Given the description of an element on the screen output the (x, y) to click on. 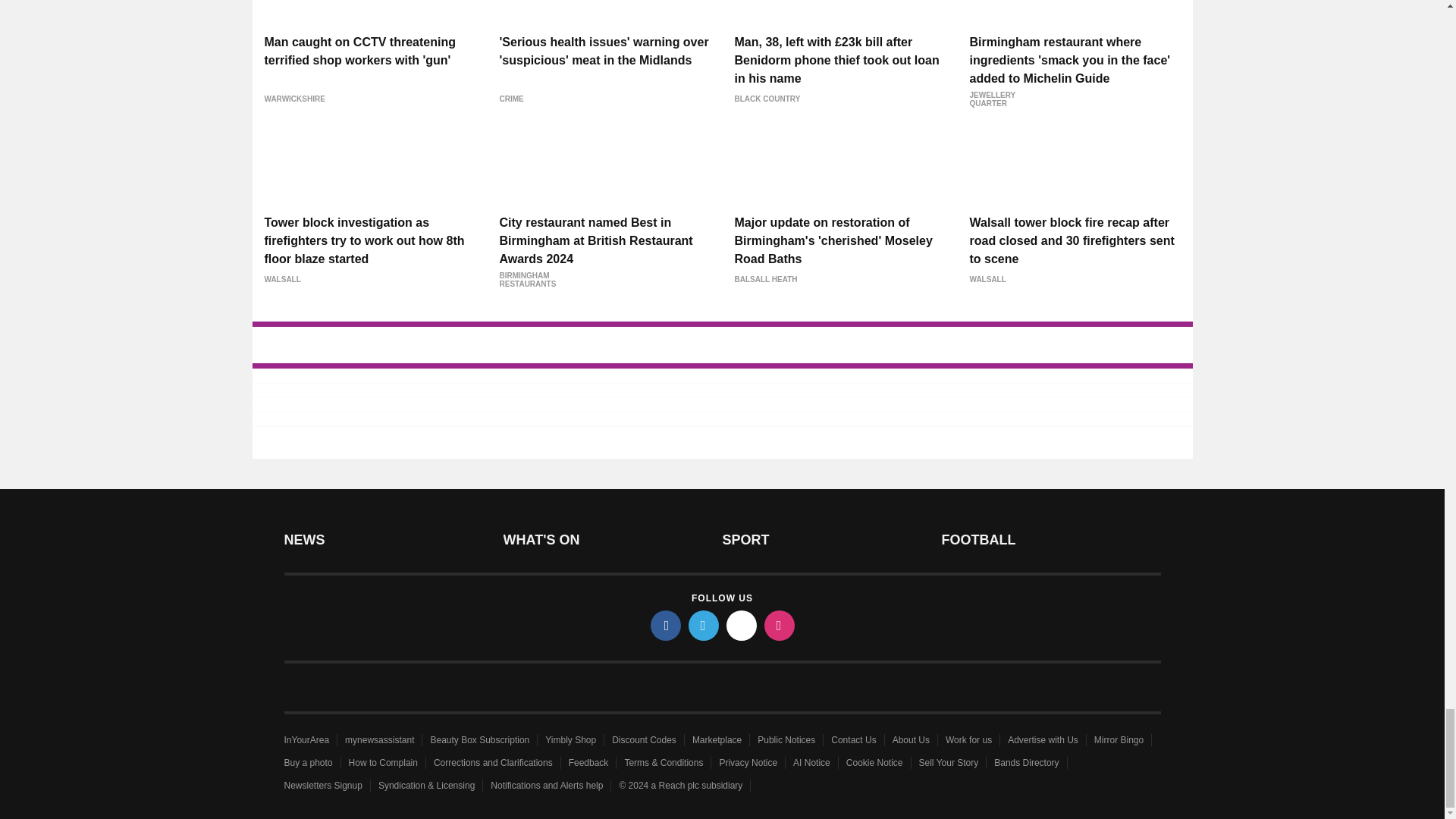
twitter (703, 625)
facebook (665, 625)
instagram (779, 625)
tiktok (741, 625)
